Given the description of an element on the screen output the (x, y) to click on. 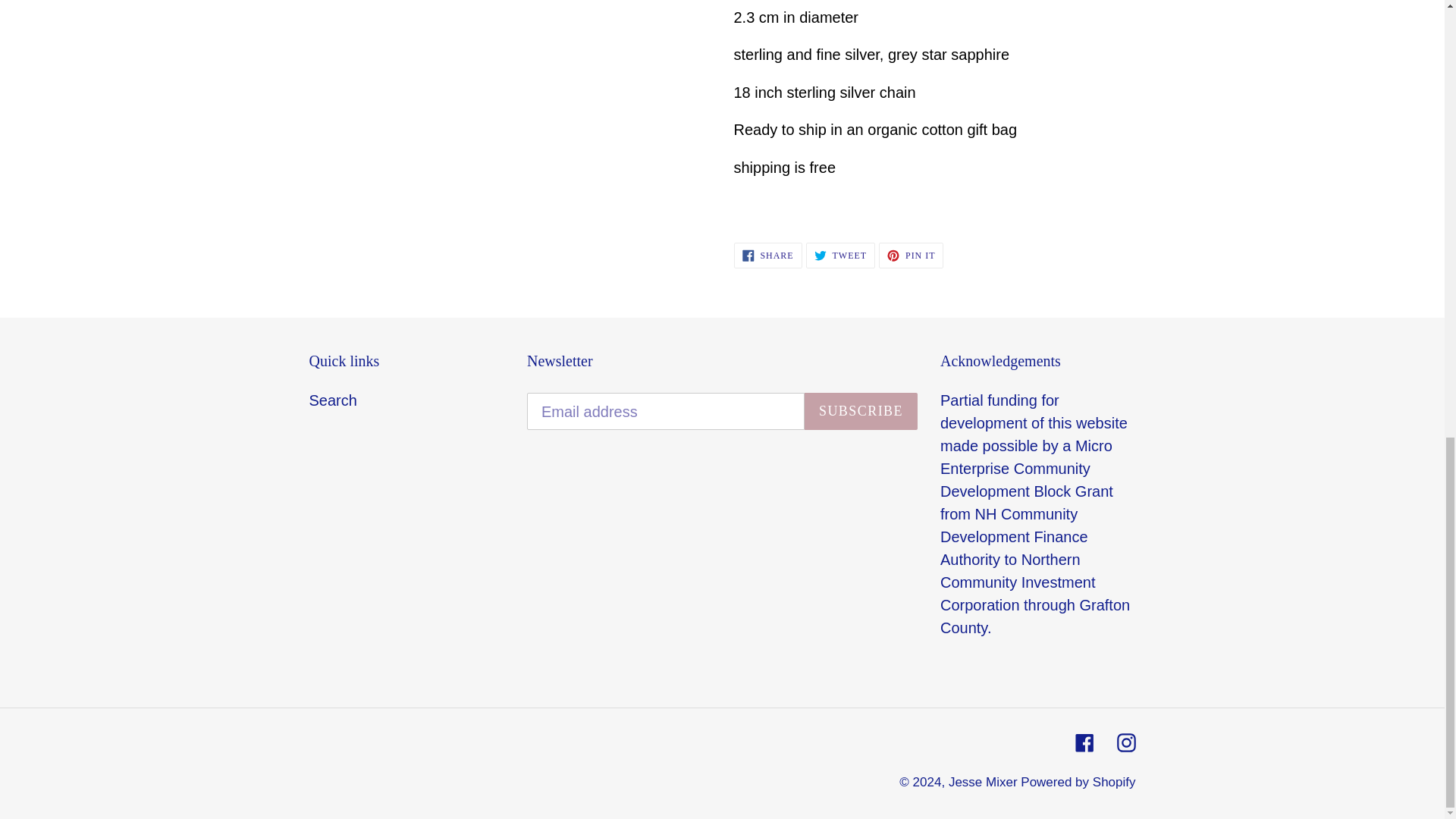
Search (911, 255)
SUBSCRIBE (332, 400)
